Given the description of an element on the screen output the (x, y) to click on. 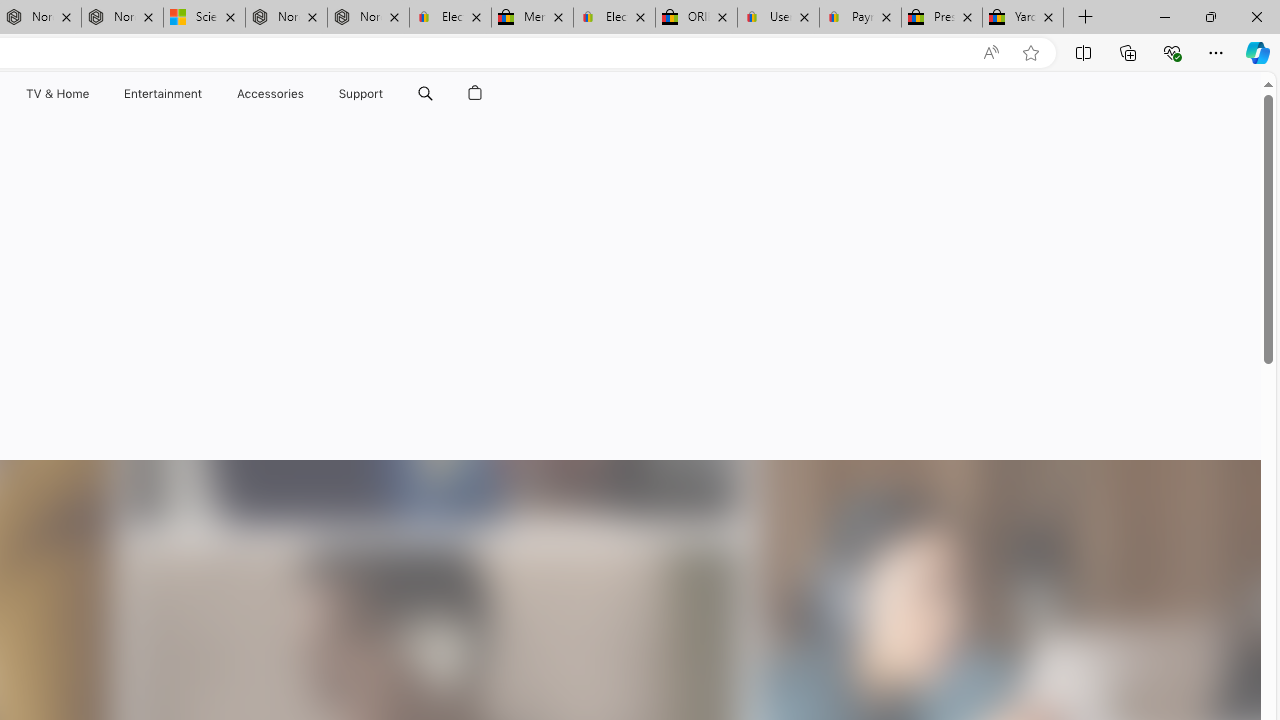
Support (361, 93)
TV & Home (56, 93)
Nordace - FAQ (368, 17)
AutomationID: globalnav-bag (475, 93)
Support menu (387, 93)
